Given the description of an element on the screen output the (x, y) to click on. 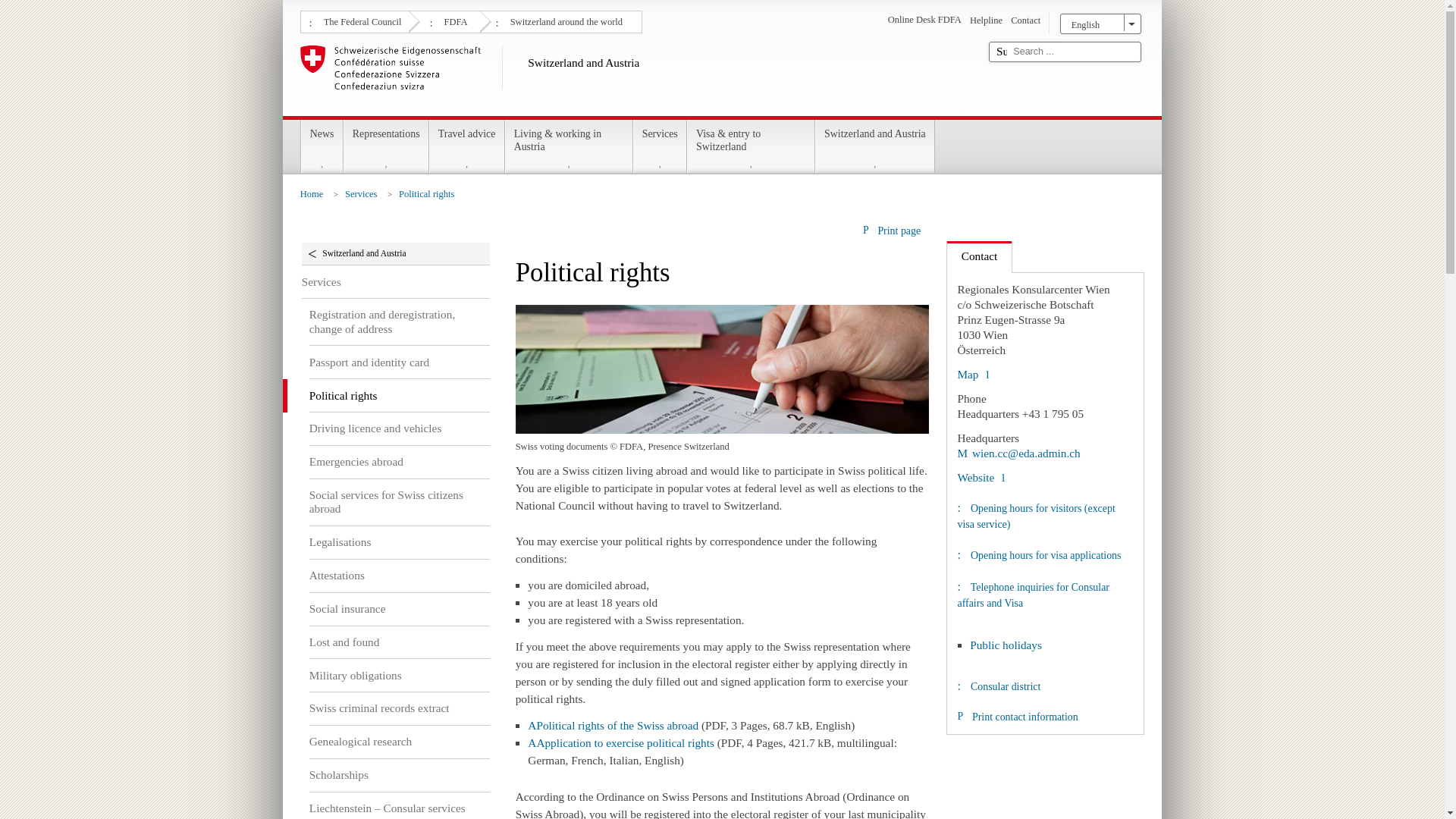
External Link (972, 373)
FDFA (454, 20)
External Link (1018, 452)
Switzerland and Austria (637, 76)
External Link (980, 477)
The Federal Council (360, 20)
Switzerland around the world (564, 20)
Submit (1001, 51)
